Given the description of an element on the screen output the (x, y) to click on. 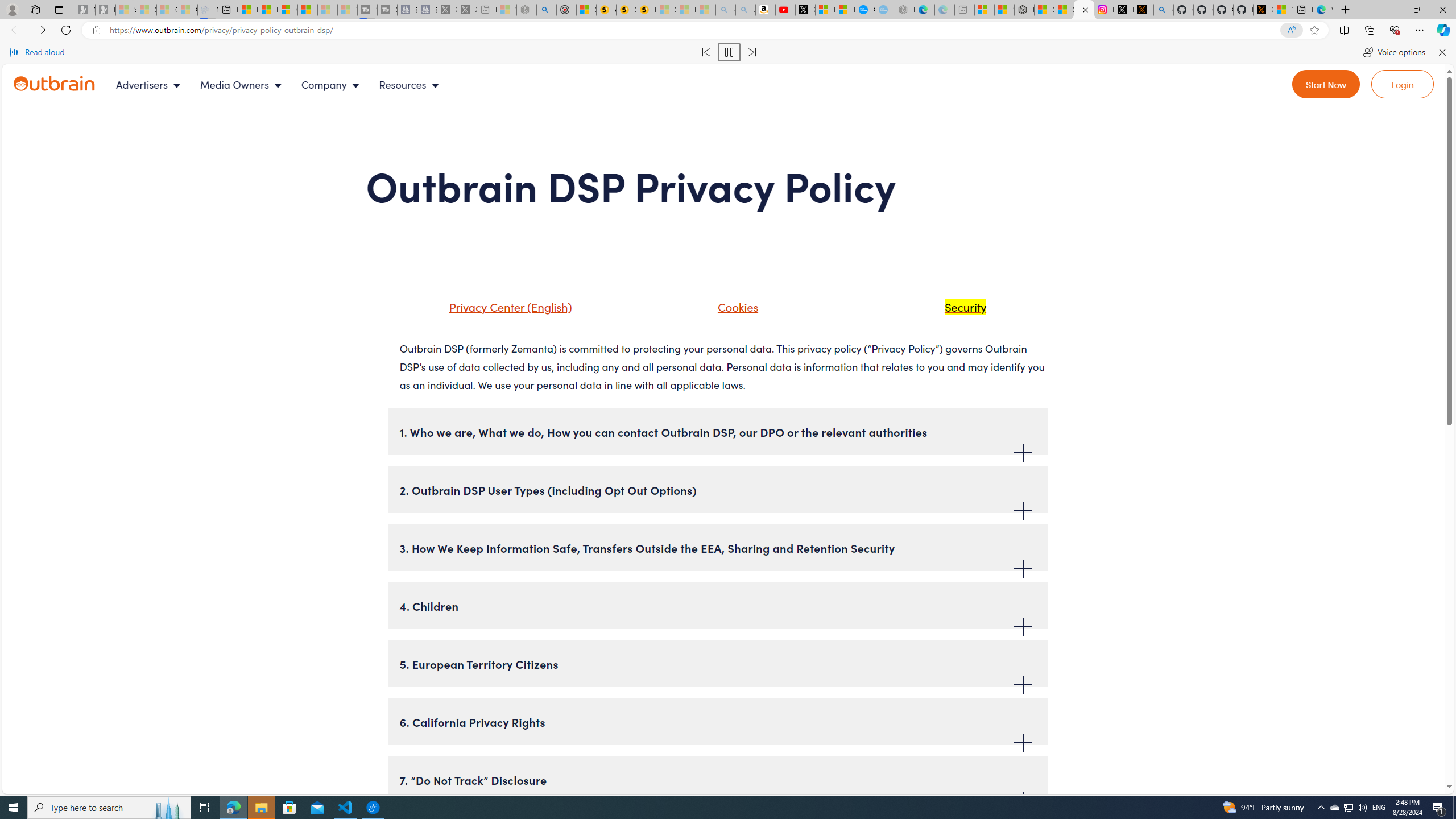
Day 1: Arriving in Yemen (surreal to be here) - YouTube (785, 9)
Forward (40, 29)
Cookies (734, 305)
Pause read aloud (Ctrl+Shift+U) (729, 52)
Security (951, 311)
4. Children (717, 605)
New tab - Sleeping (964, 9)
2. Outbrain DSP User Types (including Opt Out Options) (717, 489)
Shanghai, China Weather trends | Microsoft Weather (1063, 9)
Microsoft Start - Sleeping (327, 9)
Newsletter Sign Up - Sleeping (105, 9)
App bar (728, 29)
